Given the description of an element on the screen output the (x, y) to click on. 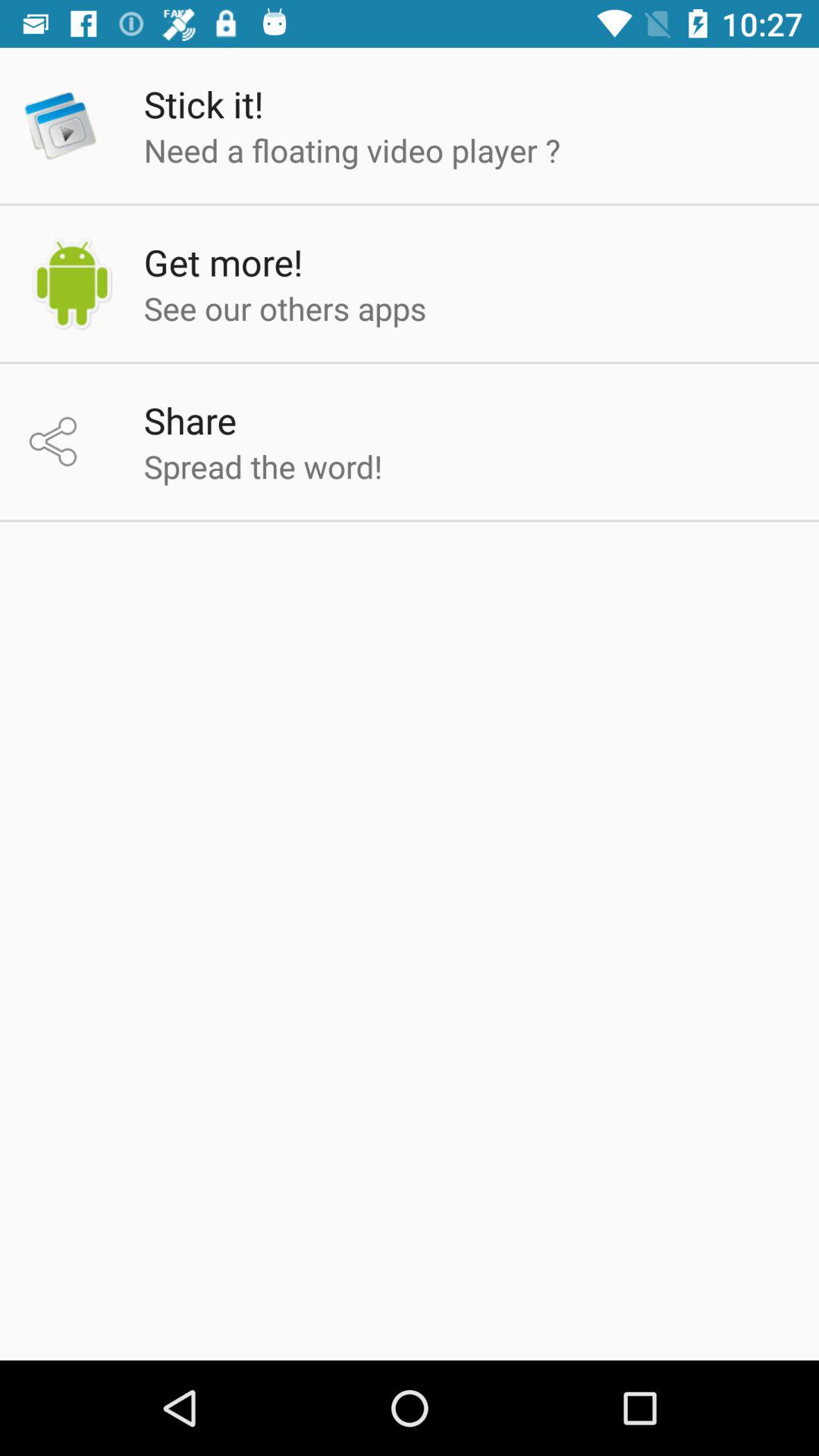
open the stick it! app (203, 103)
